Given the description of an element on the screen output the (x, y) to click on. 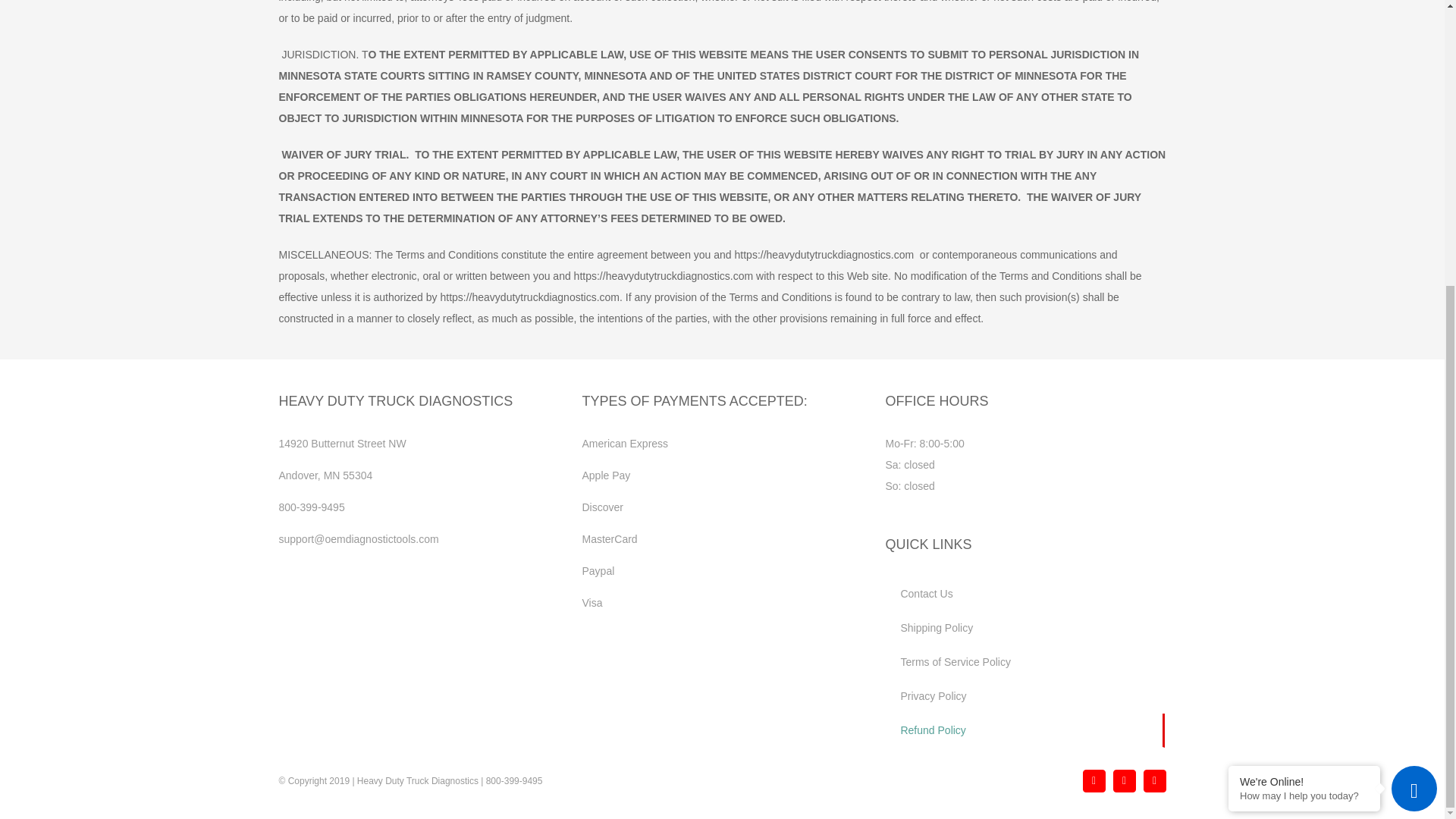
We're Online! (1304, 349)
How may I help you today? (1304, 364)
